Given the description of an element on the screen output the (x, y) to click on. 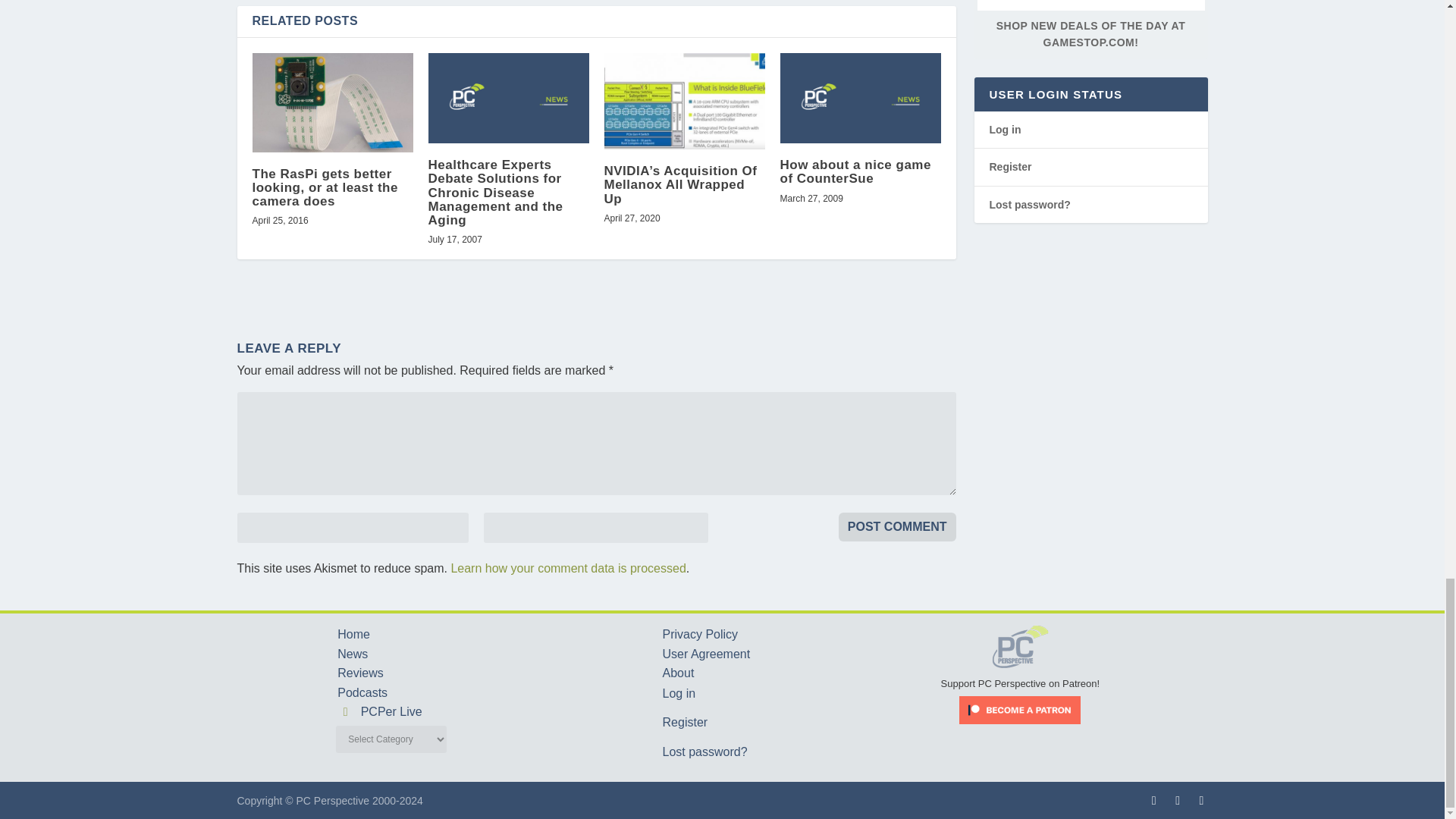
The RasPi gets better looking, or at least the camera does (331, 102)
Support PC Perspective on Patreon! (1020, 676)
Post Comment (897, 526)
